Given the description of an element on the screen output the (x, y) to click on. 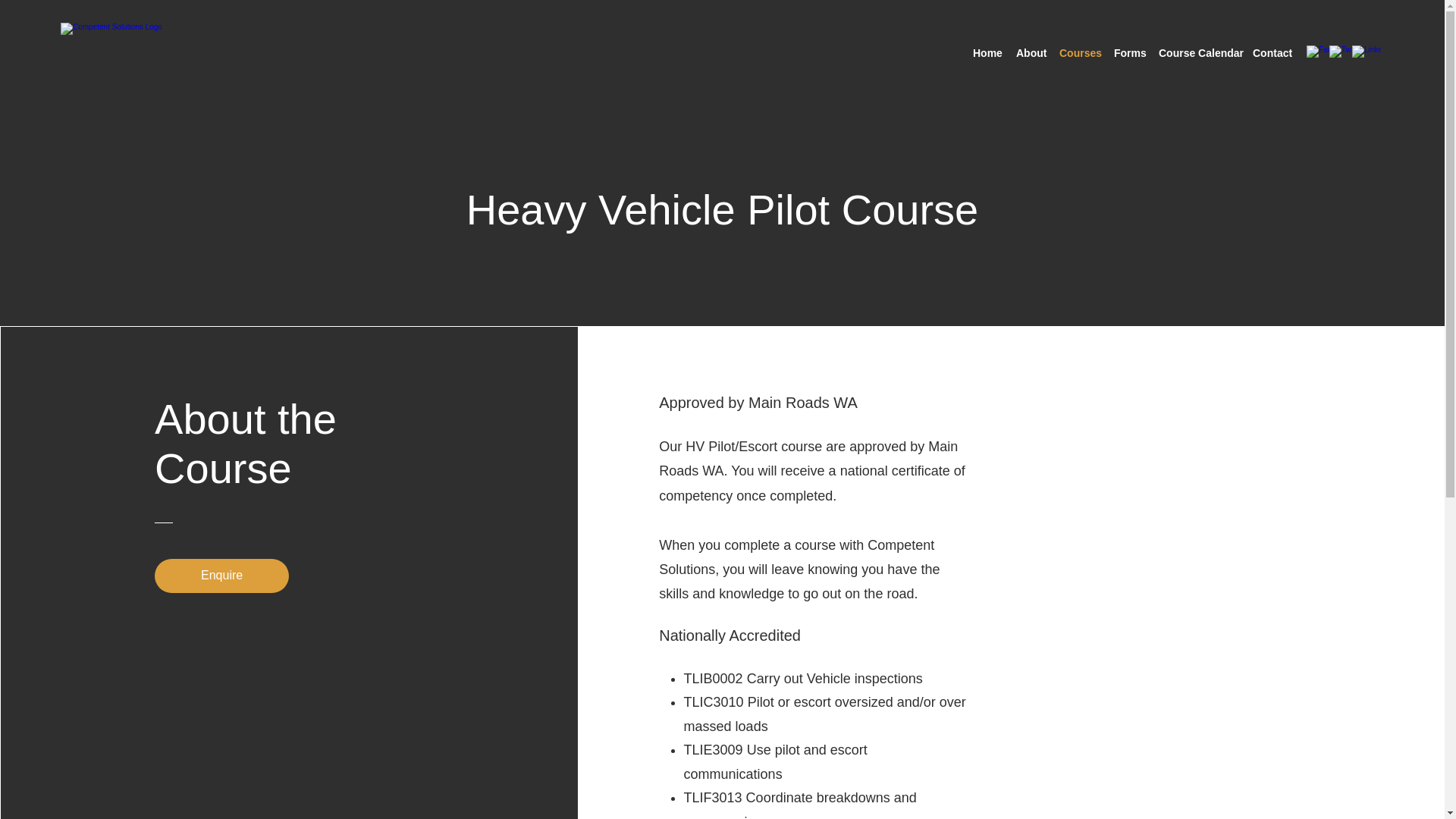
Courses (1078, 52)
Enquire (221, 575)
About (1030, 52)
Home (987, 52)
Forms (1128, 52)
Contact (1269, 52)
Course Calendar (1197, 52)
